Given the description of an element on the screen output the (x, y) to click on. 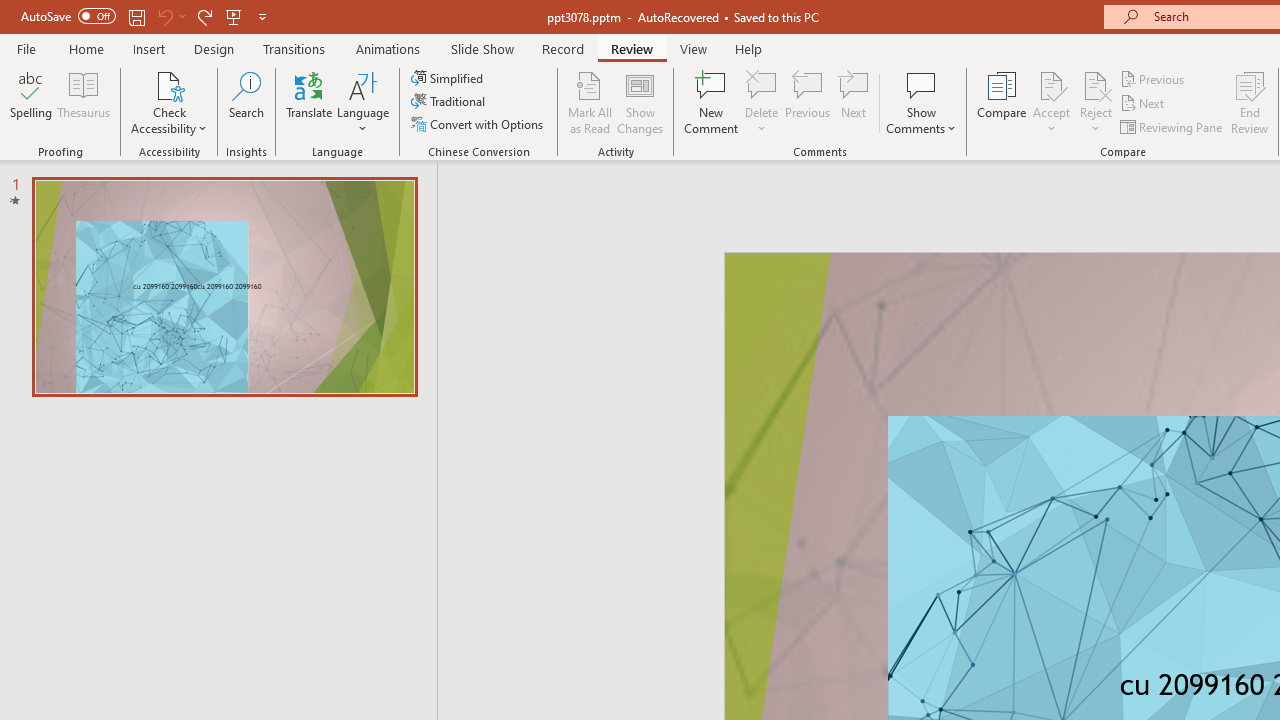
Accept (1051, 102)
Traditional (449, 101)
Translate (309, 102)
New Comment (711, 102)
Mark All as Read (589, 102)
